Given the description of an element on the screen output the (x, y) to click on. 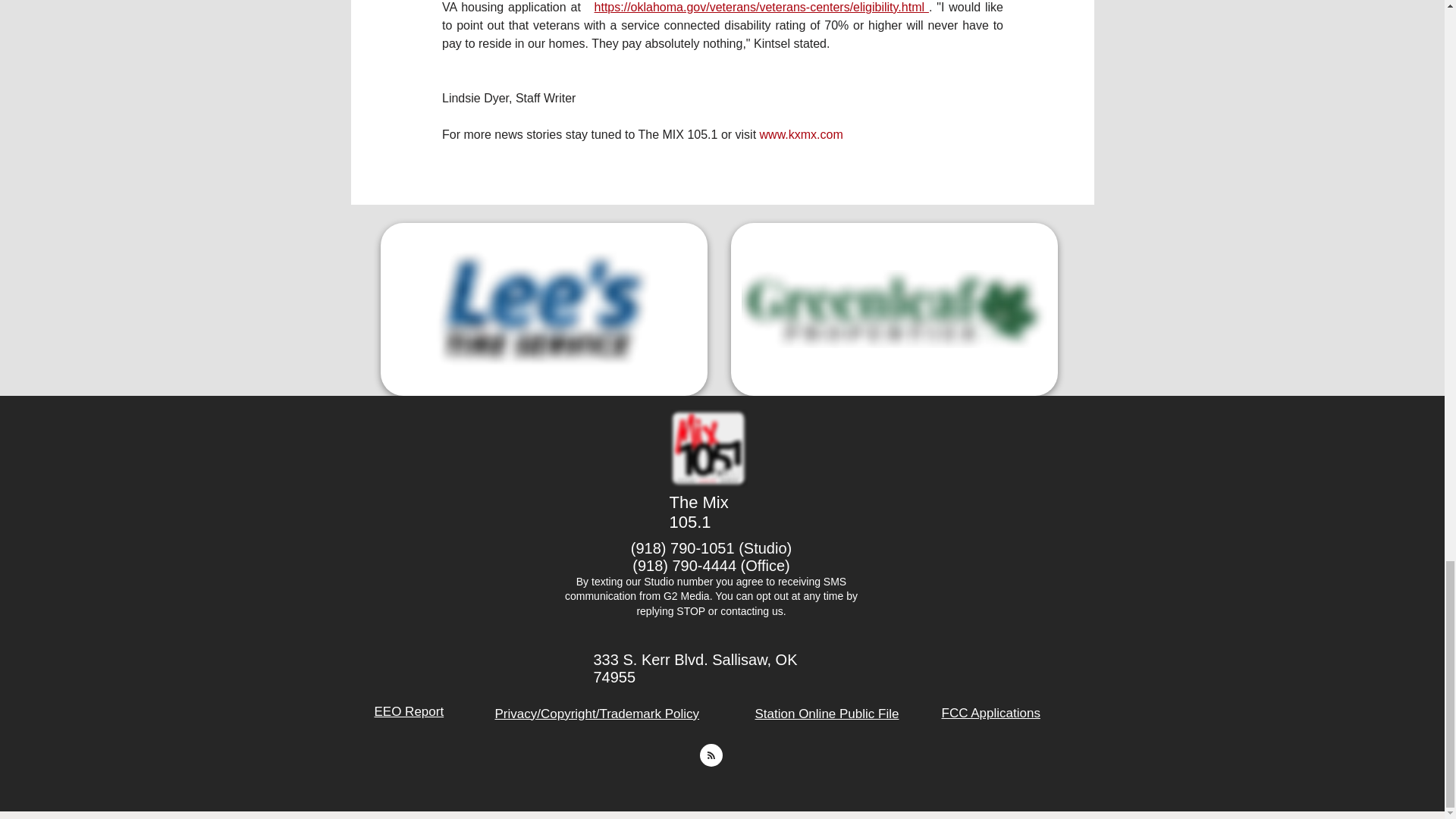
EEO Report (409, 711)
Station Online Public File (827, 713)
 www.kxmx.com (799, 133)
FCC Applications (991, 712)
333 S. Kerr Blvd. Sallisaw, OK 74955 (694, 668)
